Given the description of an element on the screen output the (x, y) to click on. 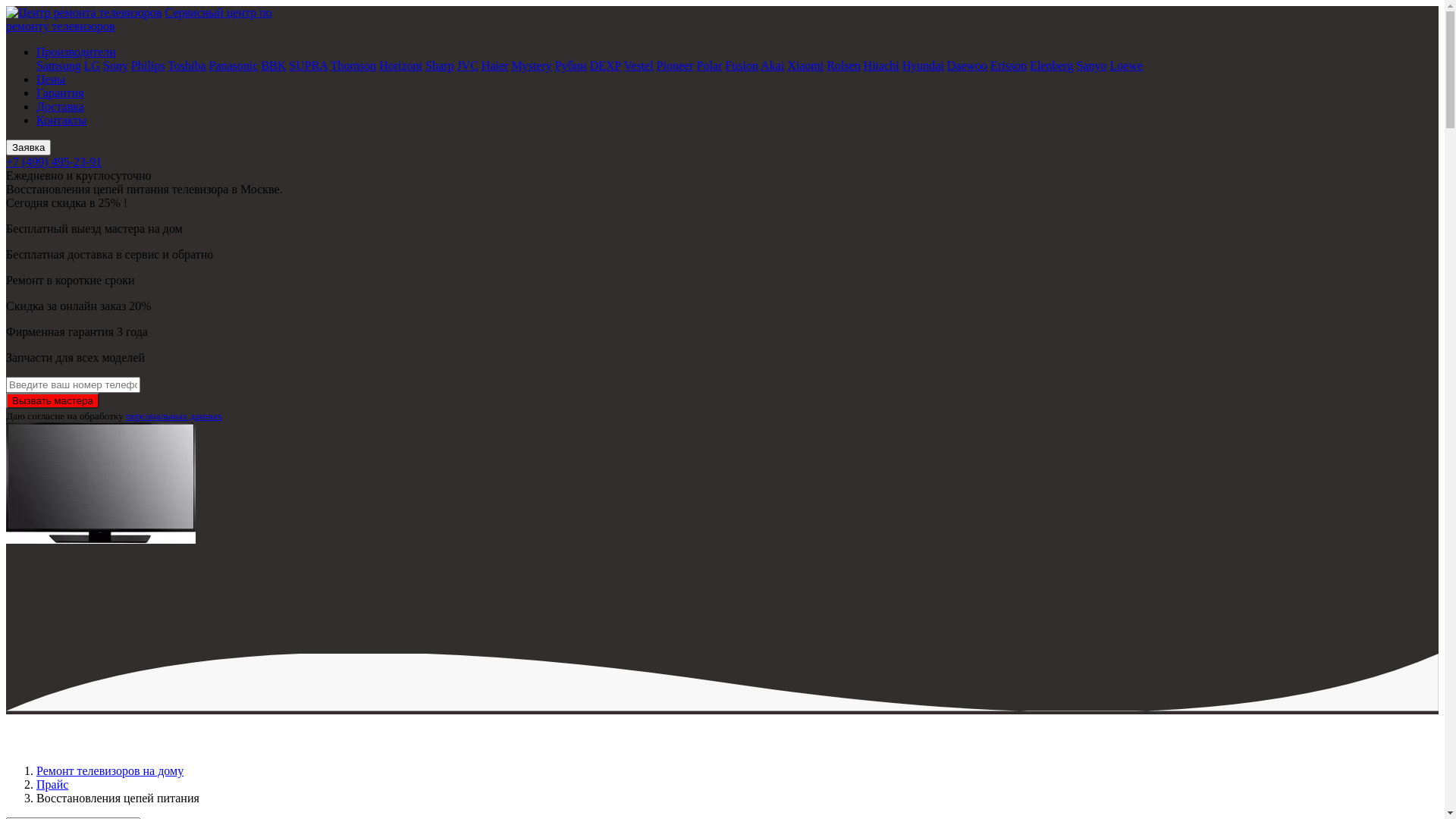
Sharp Element type: text (439, 65)
Xiaomi Element type: text (805, 65)
Daewoo Element type: text (967, 65)
DEXP Element type: text (605, 65)
Thomson Element type: text (353, 65)
Samsung Element type: text (58, 65)
Philips Element type: text (147, 65)
Vestel Element type: text (638, 65)
Akai Element type: text (772, 65)
Haier Element type: text (494, 65)
Sanyo Element type: text (1091, 65)
Loewe Element type: text (1126, 65)
BBK Element type: text (272, 65)
+7 (499) 495-23-91 Element type: text (53, 161)
Toshiba Element type: text (186, 65)
Sony Element type: text (115, 65)
Erisson Element type: text (1008, 65)
Rolsen Element type: text (842, 65)
Hitachi Element type: text (881, 65)
Panasonic Element type: text (233, 65)
Polar Element type: text (709, 65)
Mystery Element type: text (531, 65)
Fusion Element type: text (741, 65)
Horizont Element type: text (400, 65)
LG Element type: text (92, 65)
Pioneer Element type: text (674, 65)
SUPRA Element type: text (307, 65)
Hyundai Element type: text (923, 65)
JVC Element type: text (466, 65)
Elenberg Element type: text (1051, 65)
